Given the description of an element on the screen output the (x, y) to click on. 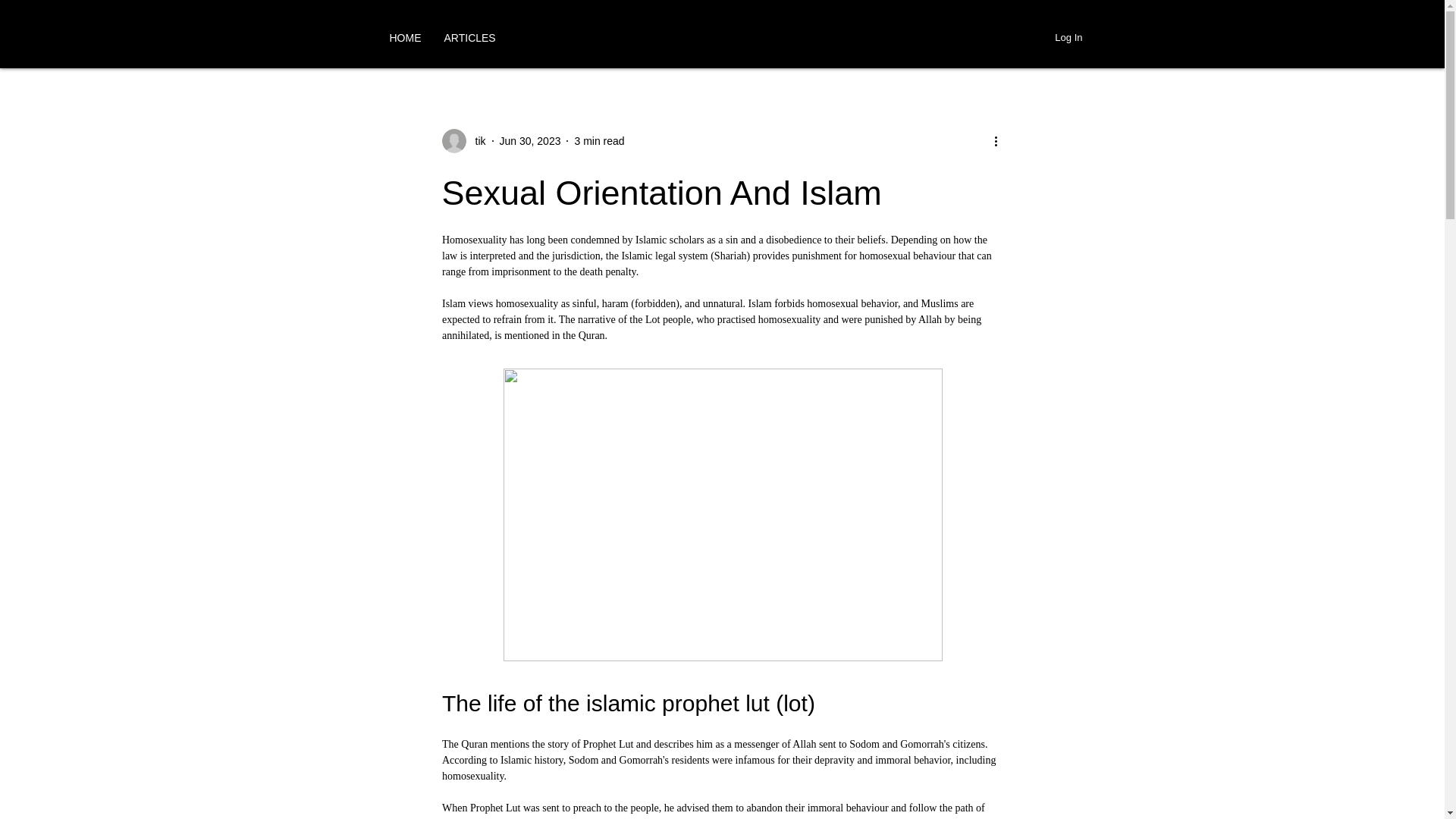
3 min read (598, 141)
Log In (1068, 37)
ARTICLES (468, 37)
tik (474, 141)
HOME (404, 37)
Jun 30, 2023 (529, 141)
tik (462, 140)
